Given the description of an element on the screen output the (x, y) to click on. 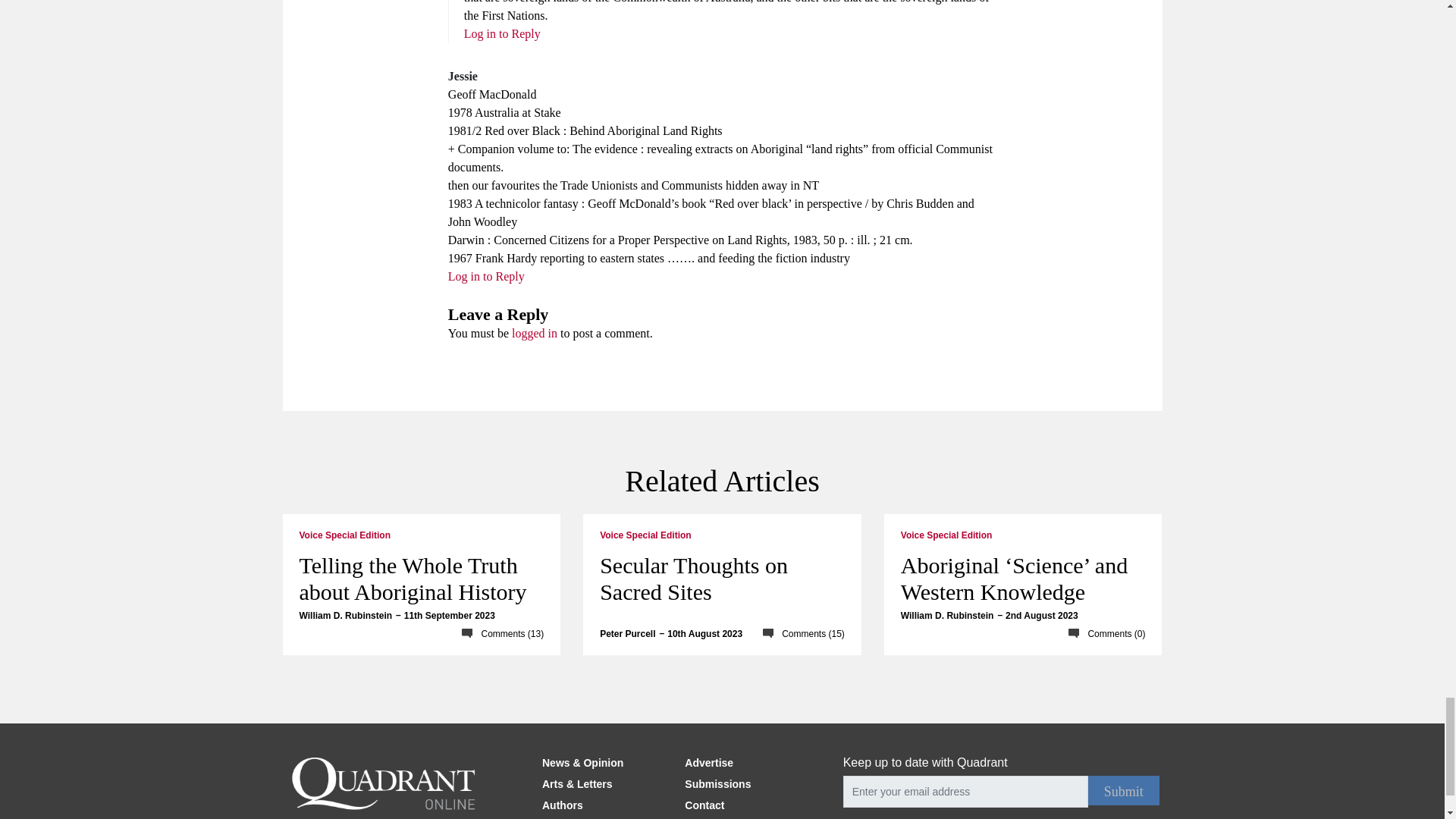
Submit (1122, 790)
